Given the description of an element on the screen output the (x, y) to click on. 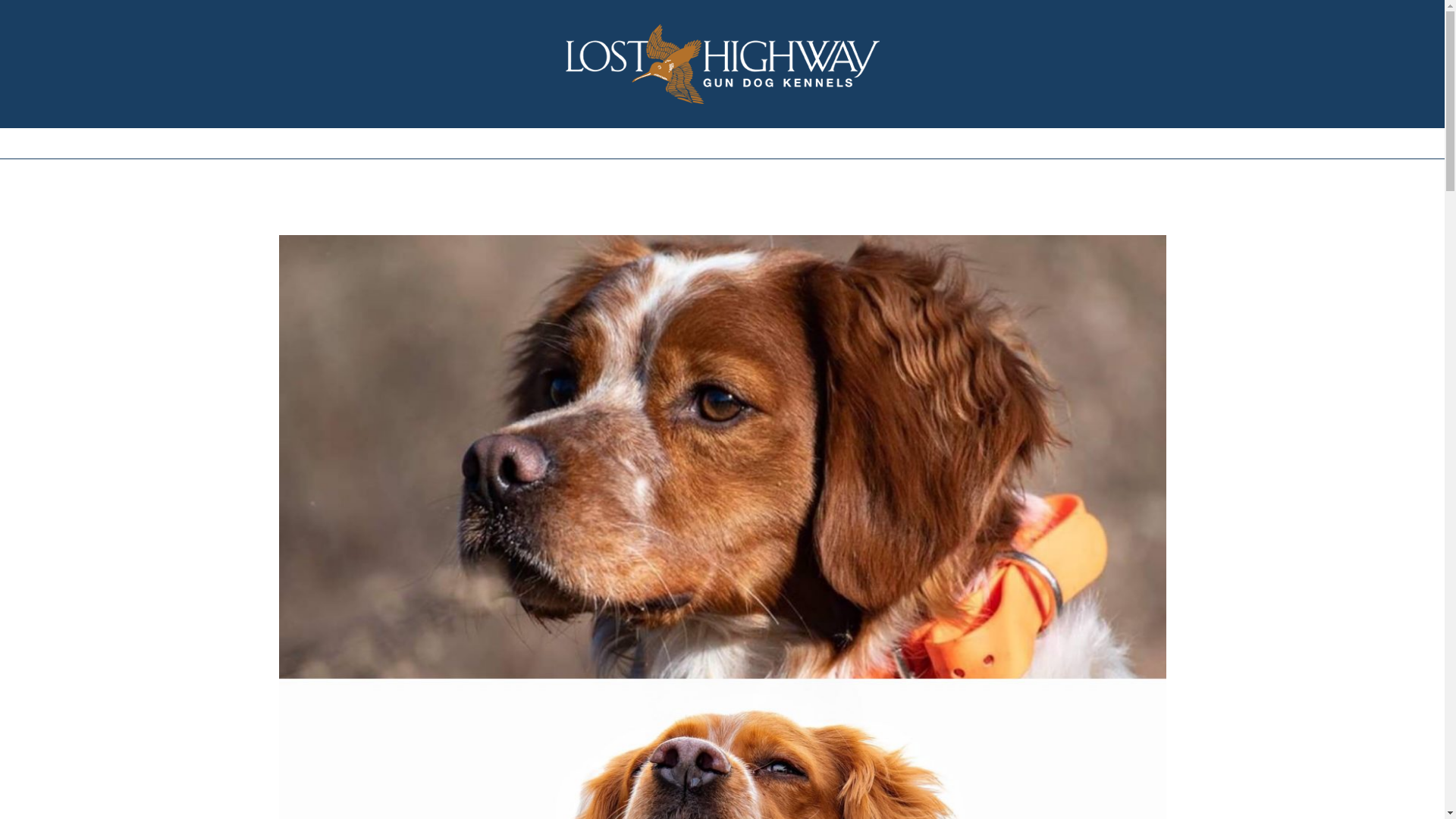
LEARNING CENTER (874, 142)
ABOUT (520, 142)
HOME (453, 142)
CONTACT (982, 142)
OUR DOGS (600, 142)
